Given the description of an element on the screen output the (x, y) to click on. 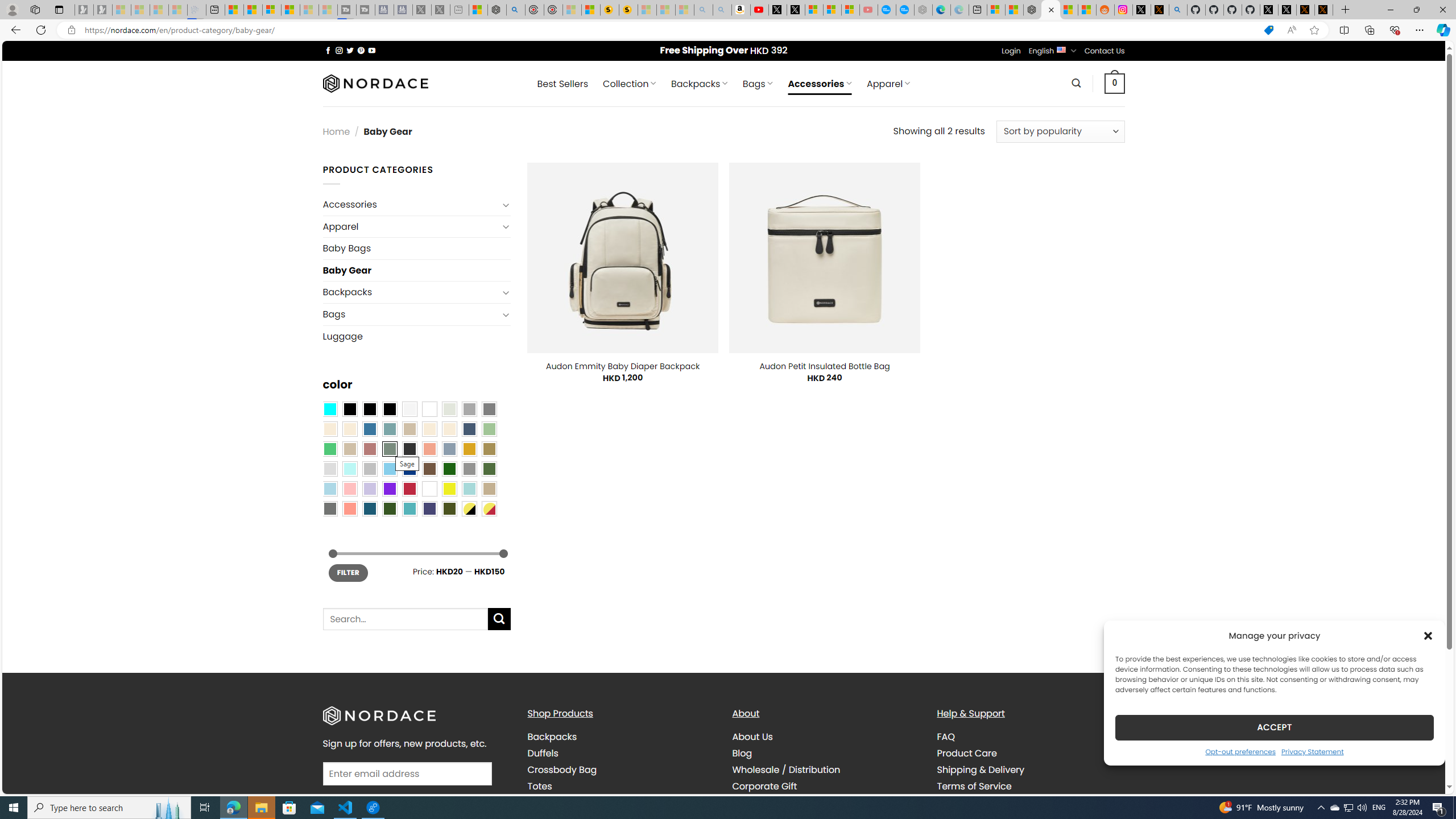
Sage (389, 448)
Light Blue (329, 488)
Teal (408, 508)
Luggage (416, 336)
Caramel (429, 428)
Corporate Gift (764, 785)
Green (488, 468)
FAQ (945, 736)
Red (408, 488)
Pearly White (408, 408)
Forest (389, 508)
Gray (468, 468)
